Given the description of an element on the screen output the (x, y) to click on. 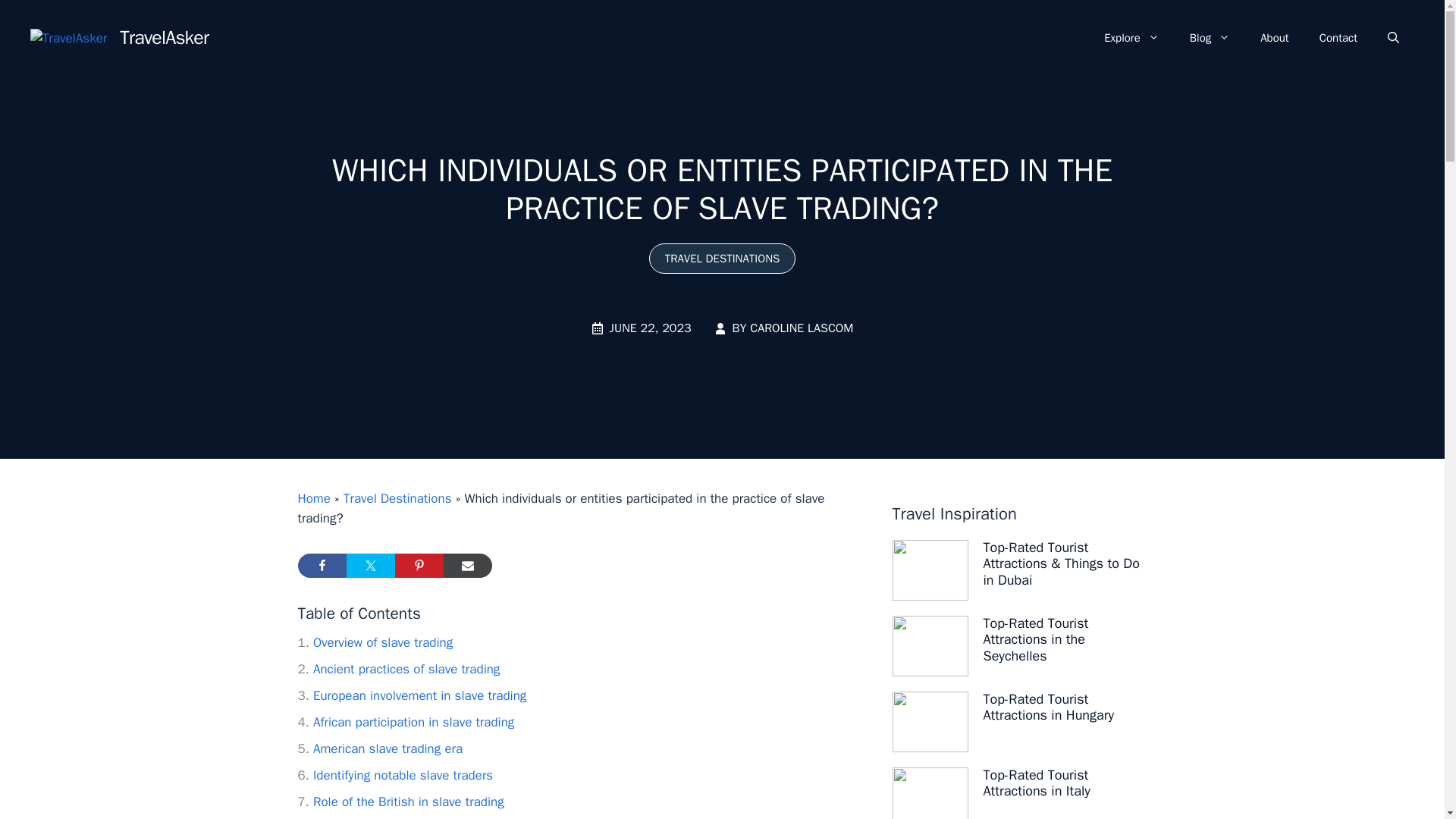
Share on Twitter (370, 565)
Share via Email (467, 565)
CAROLINE LASCOM (801, 328)
Ancient practices of slave trading (398, 669)
African participation in slave trading (405, 722)
About (1273, 37)
TRAVEL DESTINATIONS (722, 258)
Share on Pinterest (418, 565)
Identifying notable slave traders (395, 774)
Role of the British in slave trading (400, 801)
European involvement in slave trading (411, 695)
Contact (1338, 37)
Blog (1209, 37)
TravelAsker (163, 37)
Share on Facebook (321, 565)
